Given the description of an element on the screen output the (x, y) to click on. 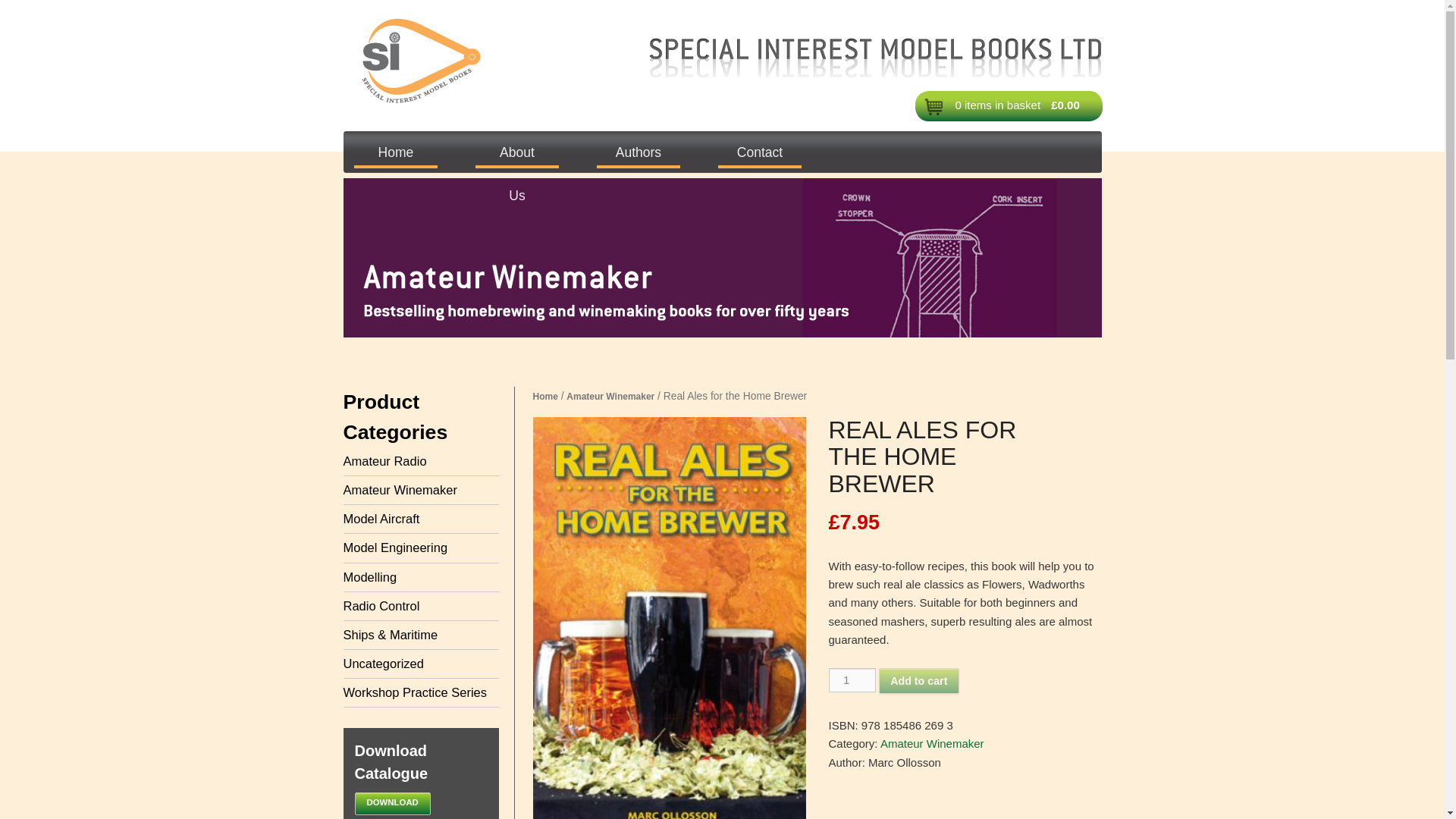
Model Aircraft (380, 518)
Amateur Winemaker (399, 489)
0 items in basket (998, 104)
Add to cart (919, 680)
Contact (759, 149)
Model Engineering (394, 547)
About Us (517, 149)
Amateur Winemaker (609, 396)
View your shopping cart (998, 104)
DOWNLOAD (392, 803)
Amateur Winemaker (932, 743)
Authors (637, 149)
Workshop Practice Series (414, 692)
Skip to secondary content (507, 149)
Skip to secondary content (507, 149)
